Given the description of an element on the screen output the (x, y) to click on. 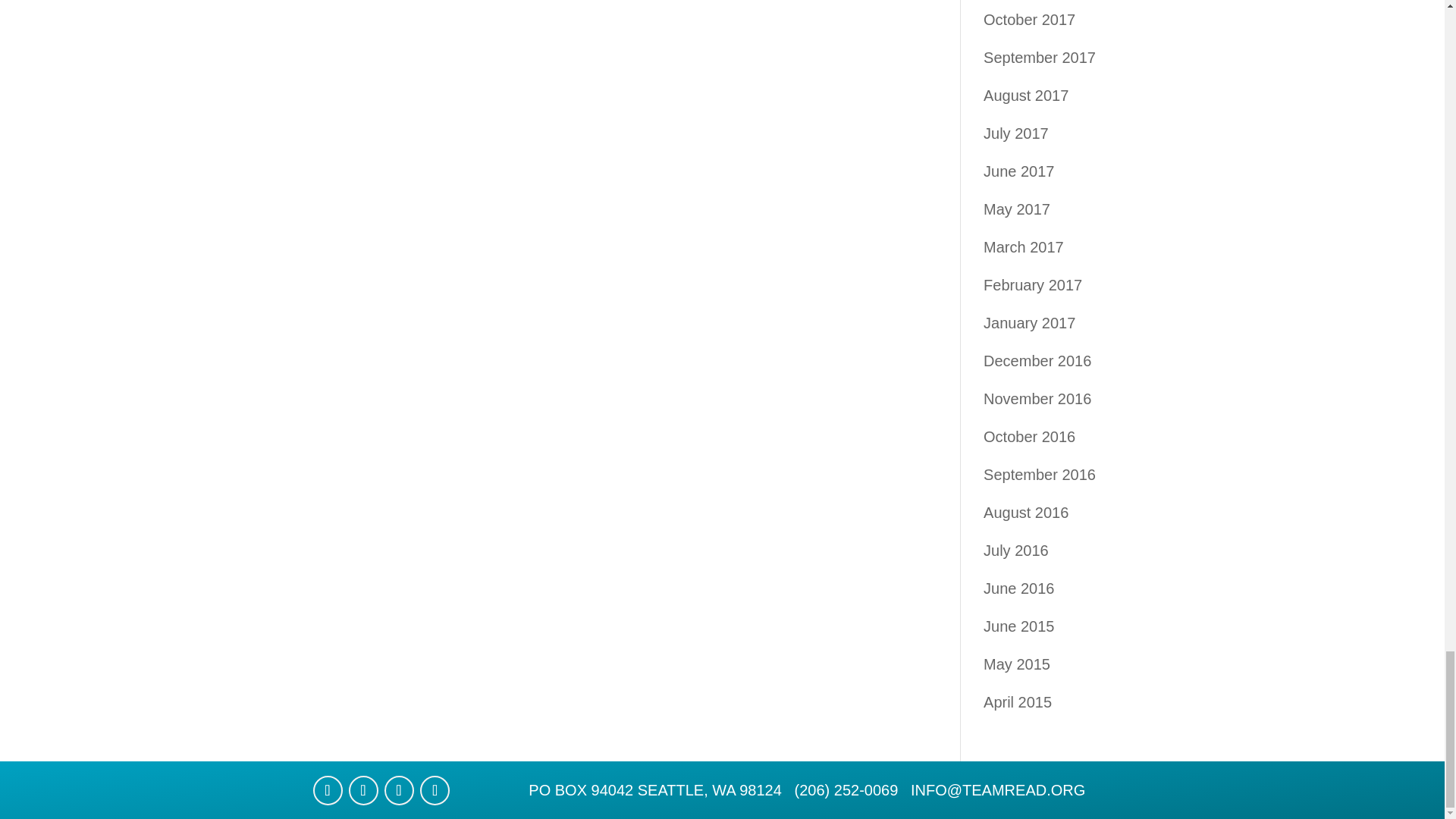
Follow on Facebook (327, 790)
Follow on Instagram (398, 790)
Follow on Twitter (363, 790)
Follow on YouTube (434, 790)
